Given the description of an element on the screen output the (x, y) to click on. 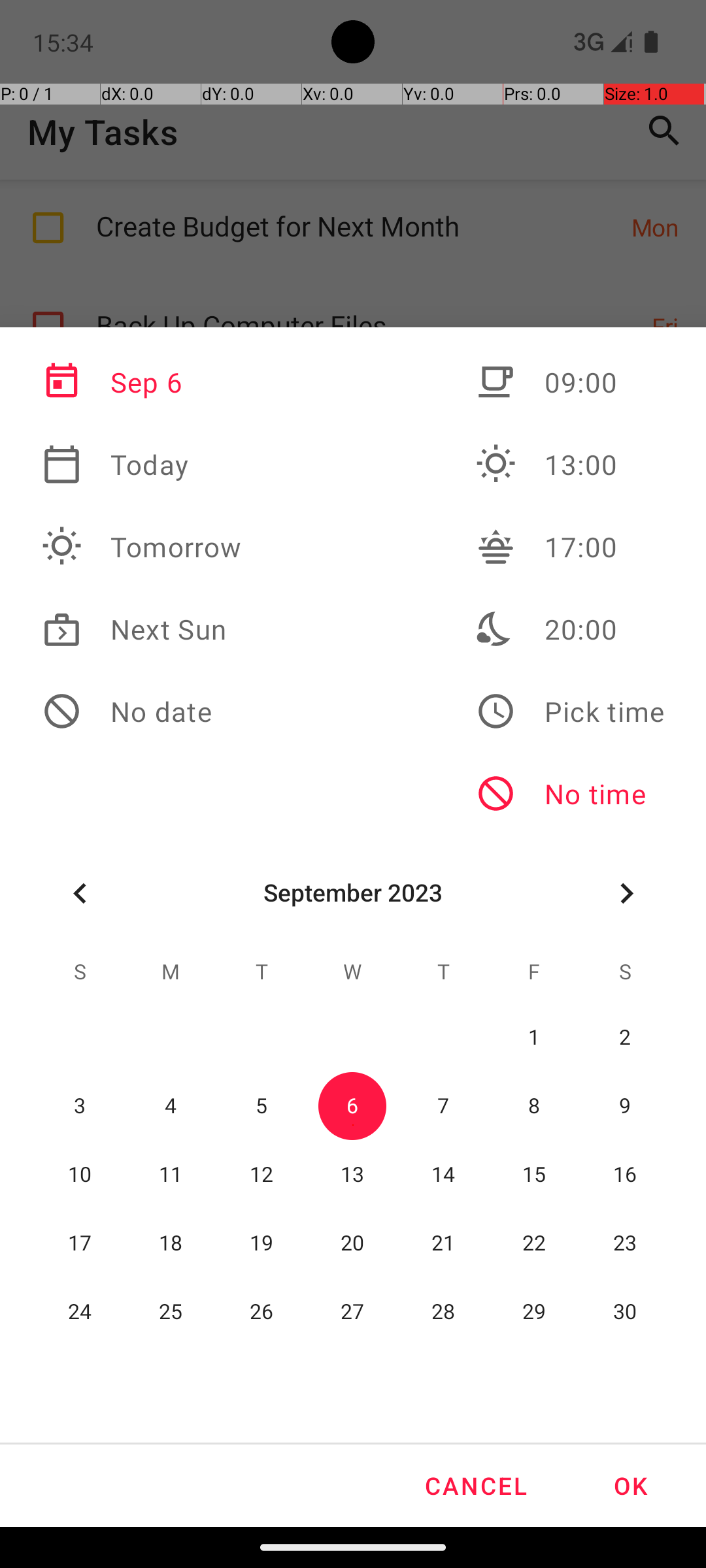
Sep 6 Element type: android.widget.CompoundButton (141, 382)
